Given the description of an element on the screen output the (x, y) to click on. 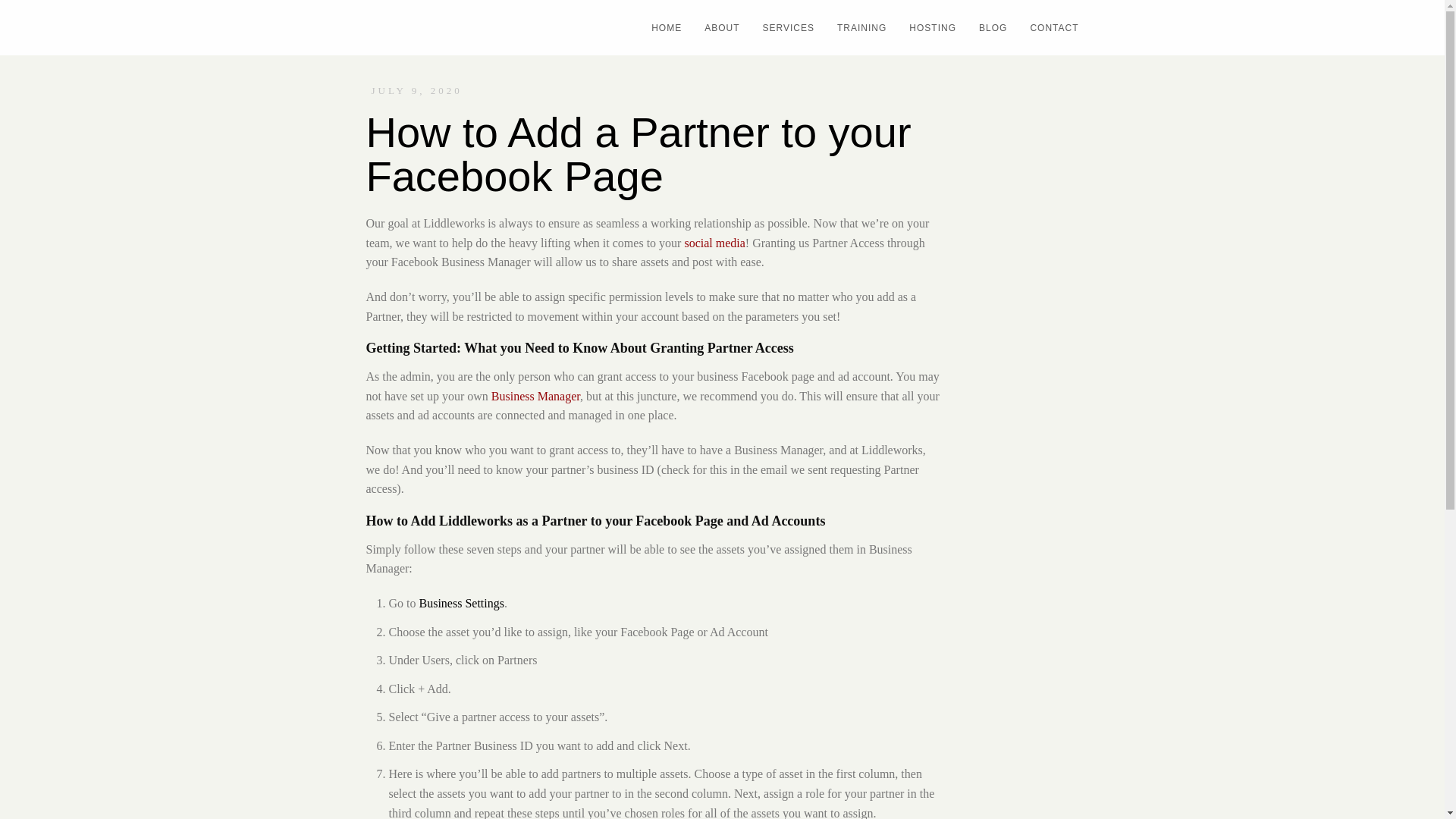
BLOG (987, 27)
TRAINING (855, 27)
HOME (660, 27)
HOSTING (927, 27)
SERVICES (782, 27)
CONTACT (1047, 27)
ABOUT (716, 27)
